Given the description of an element on the screen output the (x, y) to click on. 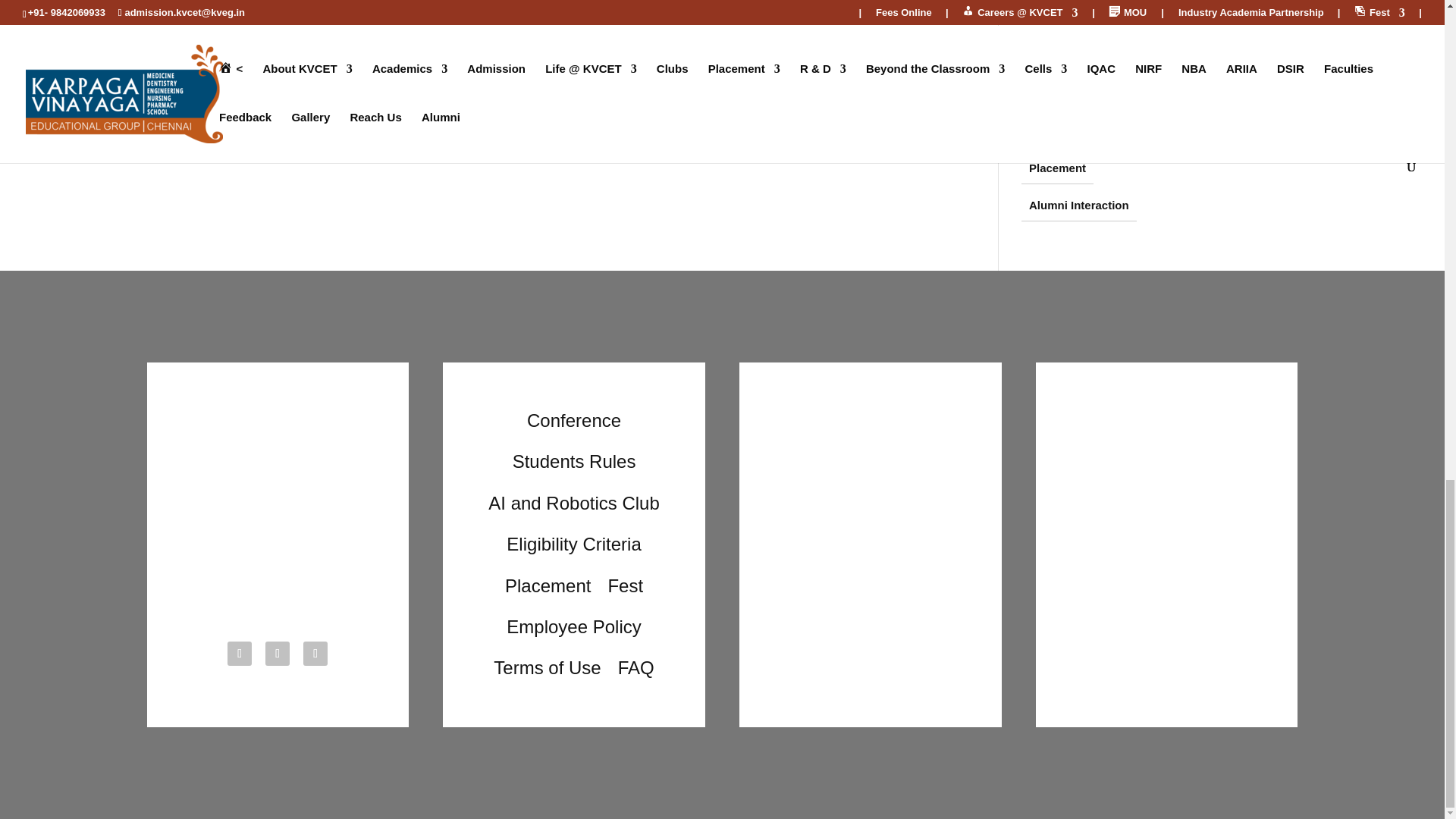
Follow on Facebook (239, 653)
Follow on Twitter (276, 653)
Follow on LinkedIn (314, 653)
